Given the description of an element on the screen output the (x, y) to click on. 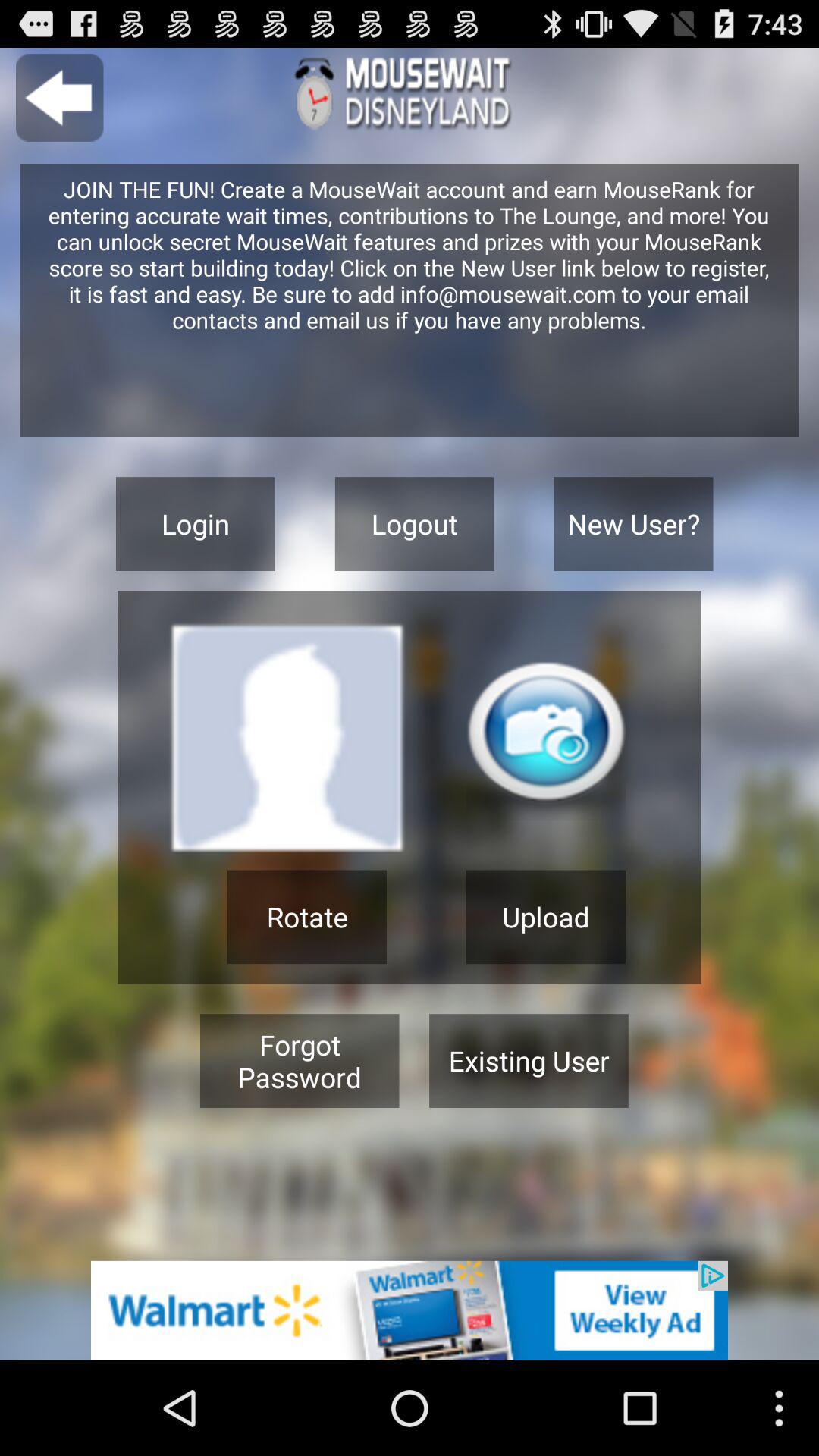
advertisement (409, 1310)
